Given the description of an element on the screen output the (x, y) to click on. 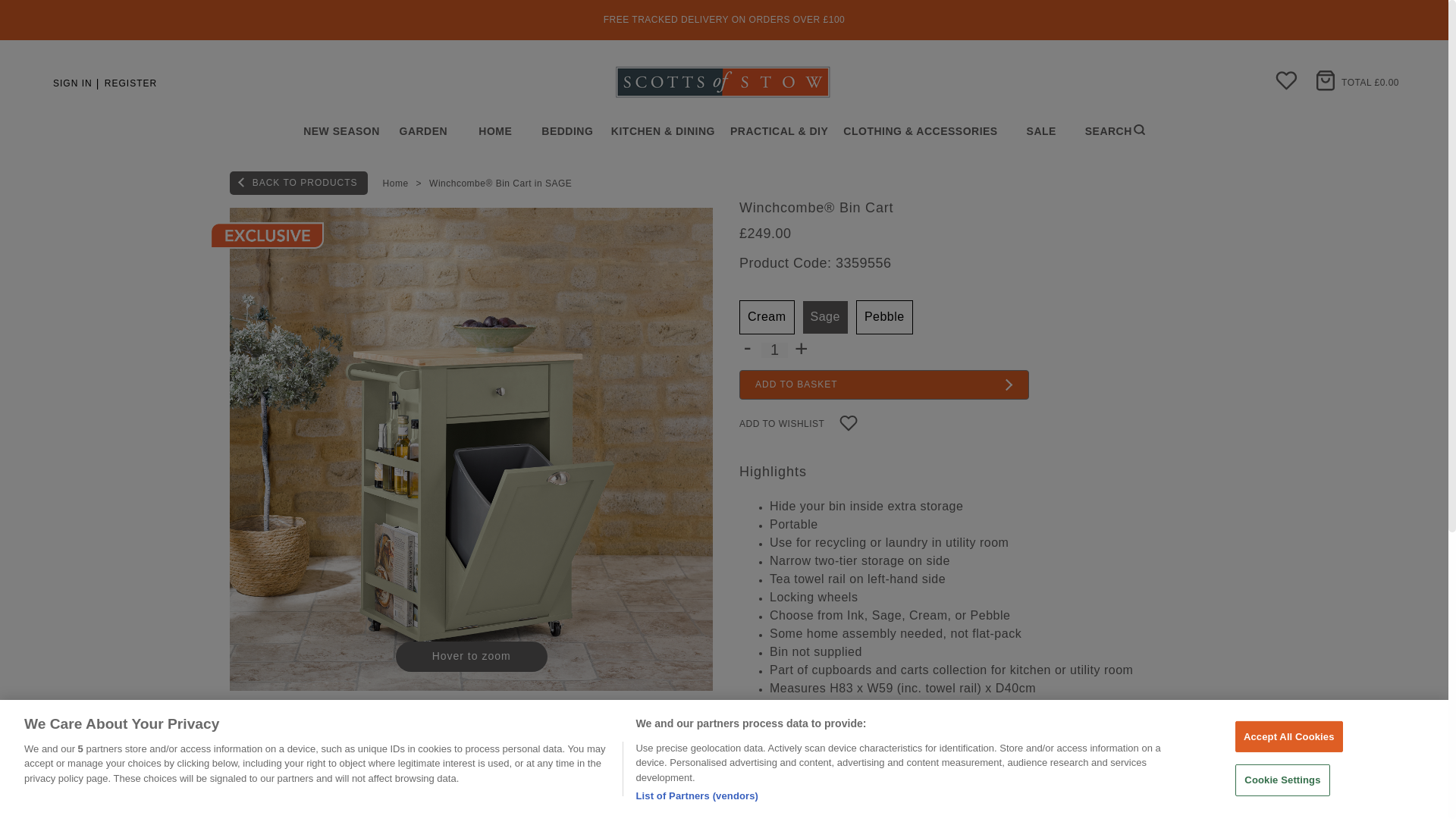
Sign In To Your Account Or Register A Free One (129, 82)
Sign In To Your Account Or Register A Free One (71, 82)
PEBBLE (884, 317)
1 (774, 350)
GARDEN (423, 132)
SIGN IN (71, 82)
NEW SEASON (341, 132)
SAGE (825, 317)
CREAM (766, 317)
REGISTER (129, 82)
